Given the description of an element on the screen output the (x, y) to click on. 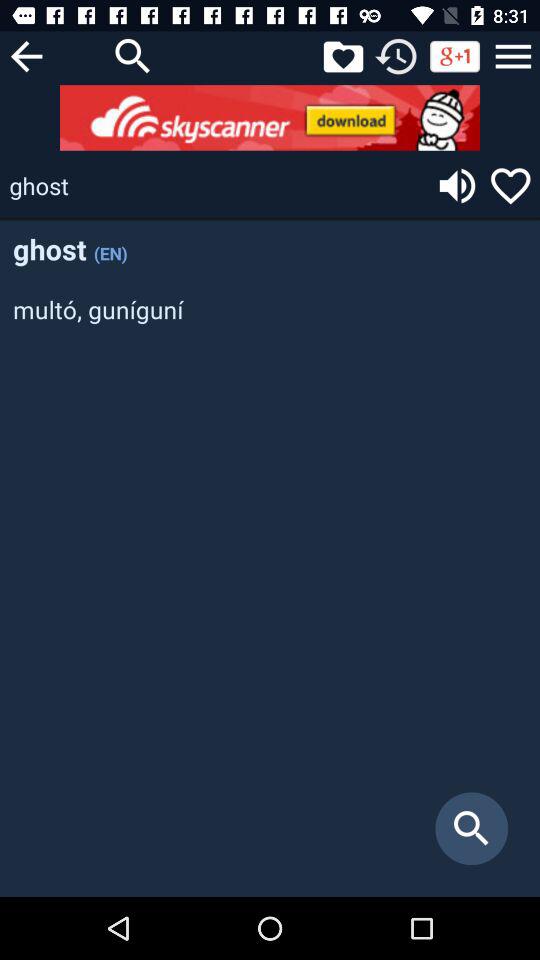
search (133, 56)
